Given the description of an element on the screen output the (x, y) to click on. 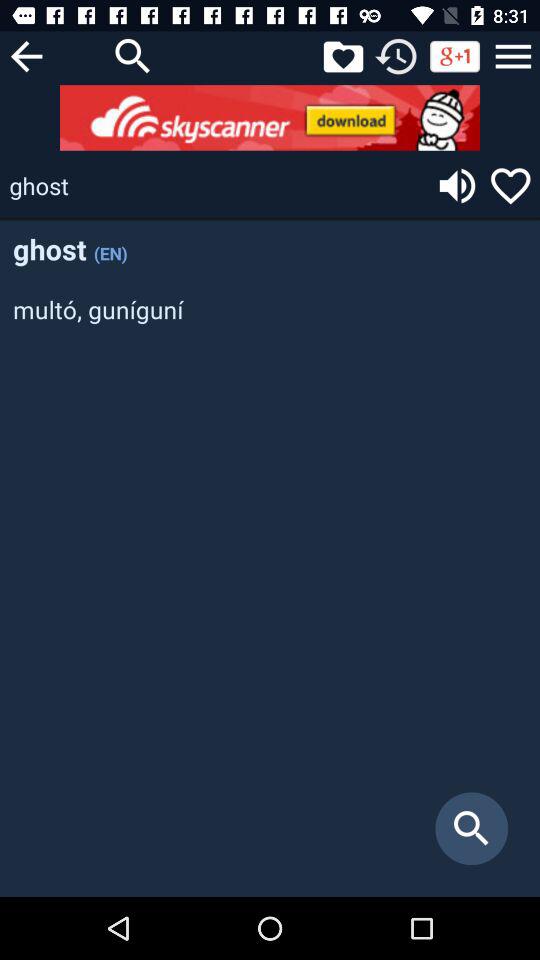
search (133, 56)
